Given the description of an element on the screen output the (x, y) to click on. 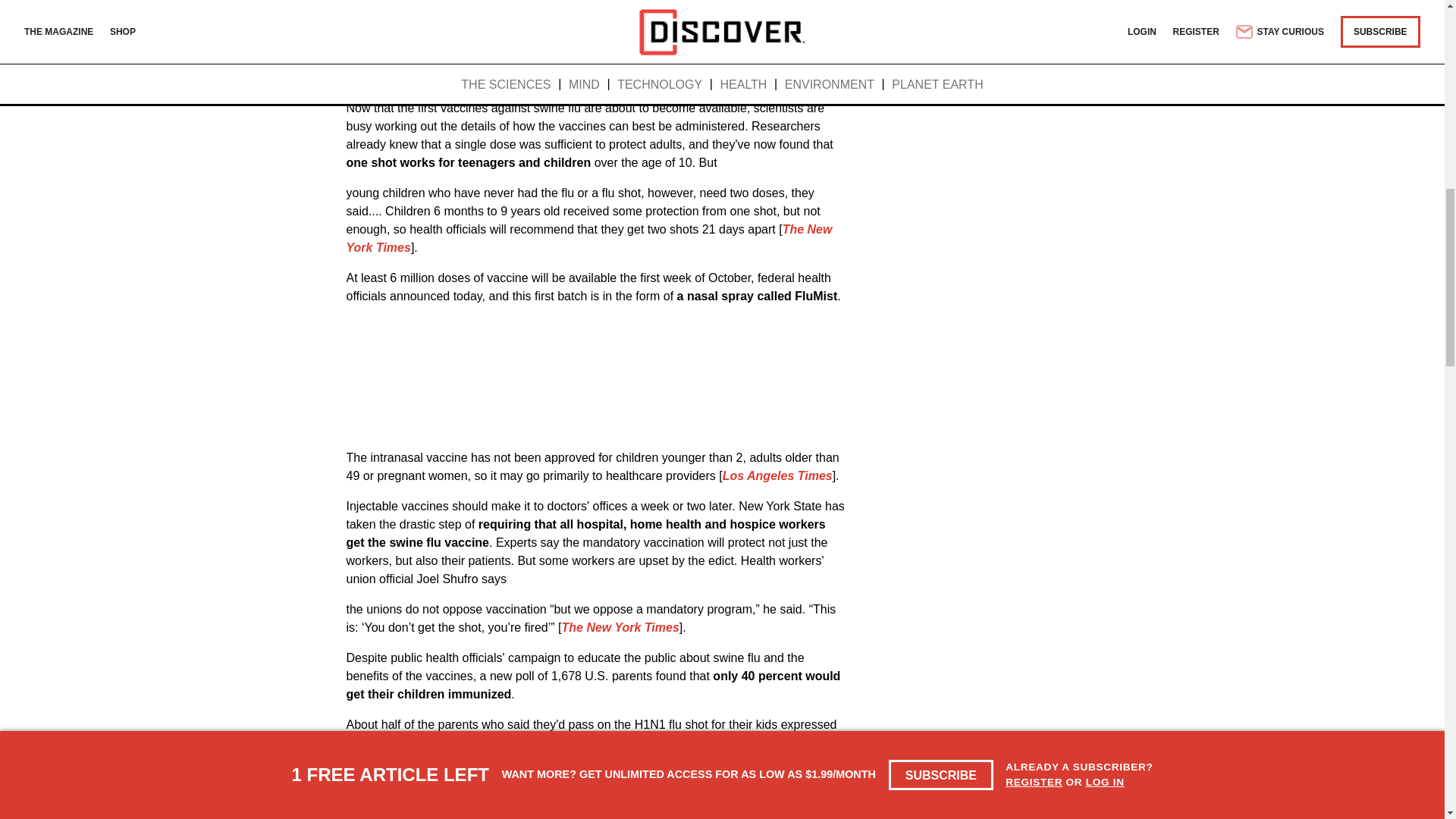
Los Angeles Times (777, 475)
The New York Times (620, 626)
Los Angeles Times (675, 742)
The New York Times (588, 237)
Audio Article (590, 55)
